Given the description of an element on the screen output the (x, y) to click on. 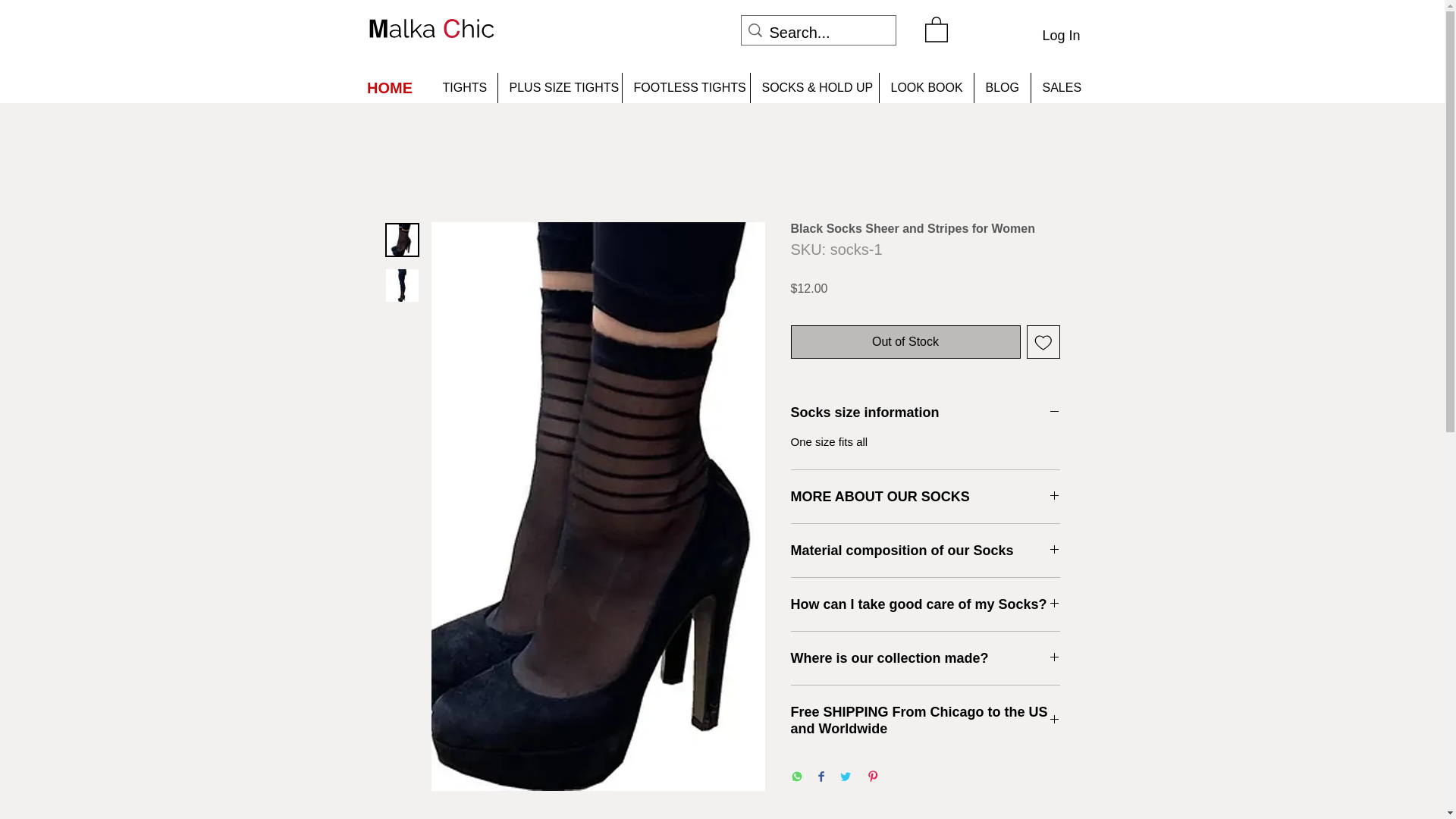
MORE ABOUT OUR SOCKS (924, 496)
PLUS SIZE TIGHTS (559, 87)
Socks size information (924, 412)
SALES (1059, 87)
TIGHTS (463, 87)
Where is our collection made? (924, 658)
BLOG (1002, 87)
Free SHIPPING From Chicago to the US and Worldwide (924, 720)
FOOTLESS TIGHTS (685, 87)
How can I take good care of my Socks? (924, 604)
Log In (1060, 35)
LOOK BOOK (924, 87)
Material composition of our Socks (924, 550)
HOME (389, 87)
Out of Stock (905, 341)
